Given the description of an element on the screen output the (x, y) to click on. 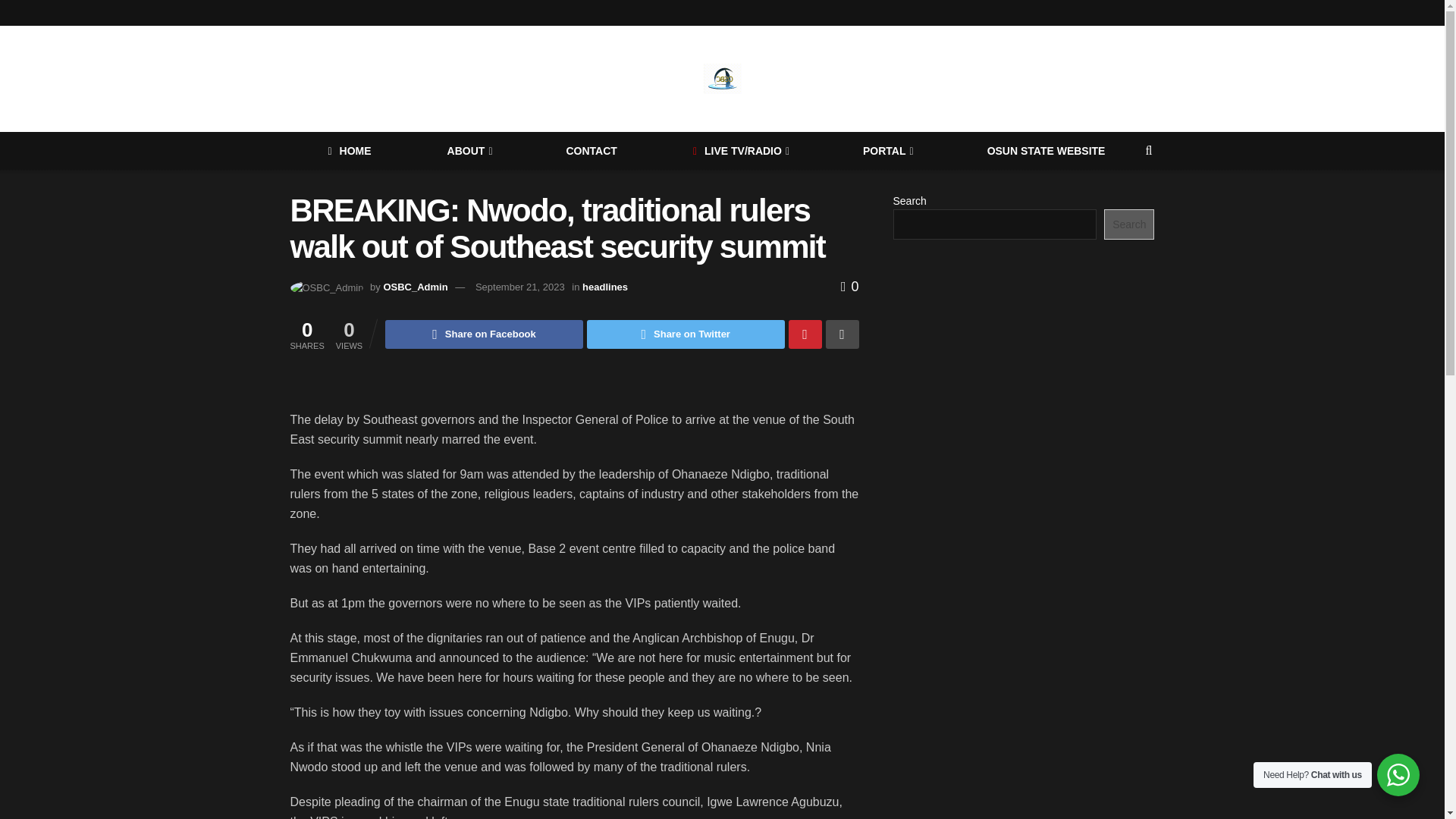
OSUN STATE WEBSITE (1045, 150)
HOME (349, 150)
ABOUT (468, 150)
CONTACT (590, 150)
PORTAL (887, 150)
